Given the description of an element on the screen output the (x, y) to click on. 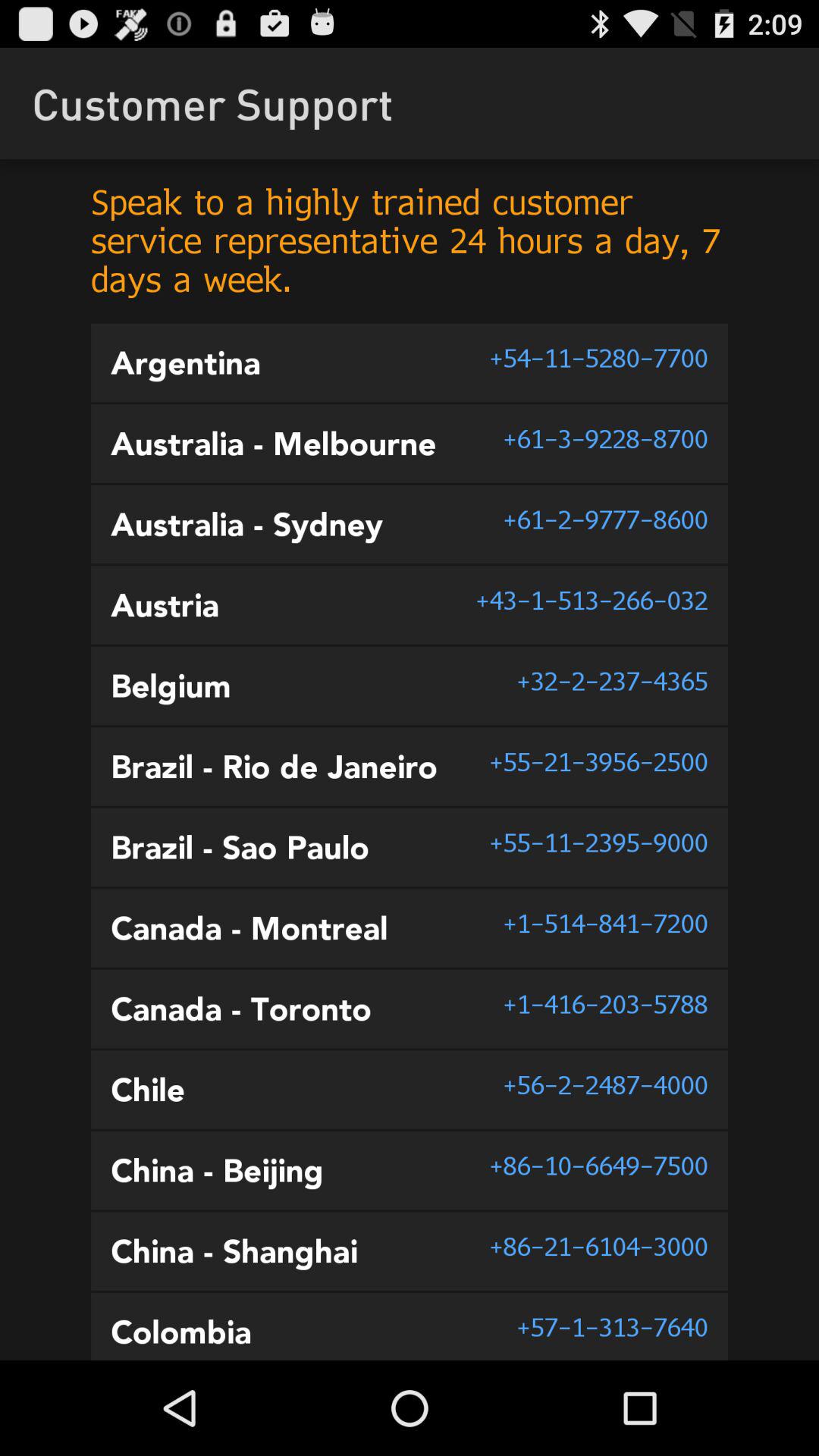
turn on icon above the 1 514 841 (598, 842)
